Given the description of an element on the screen output the (x, y) to click on. 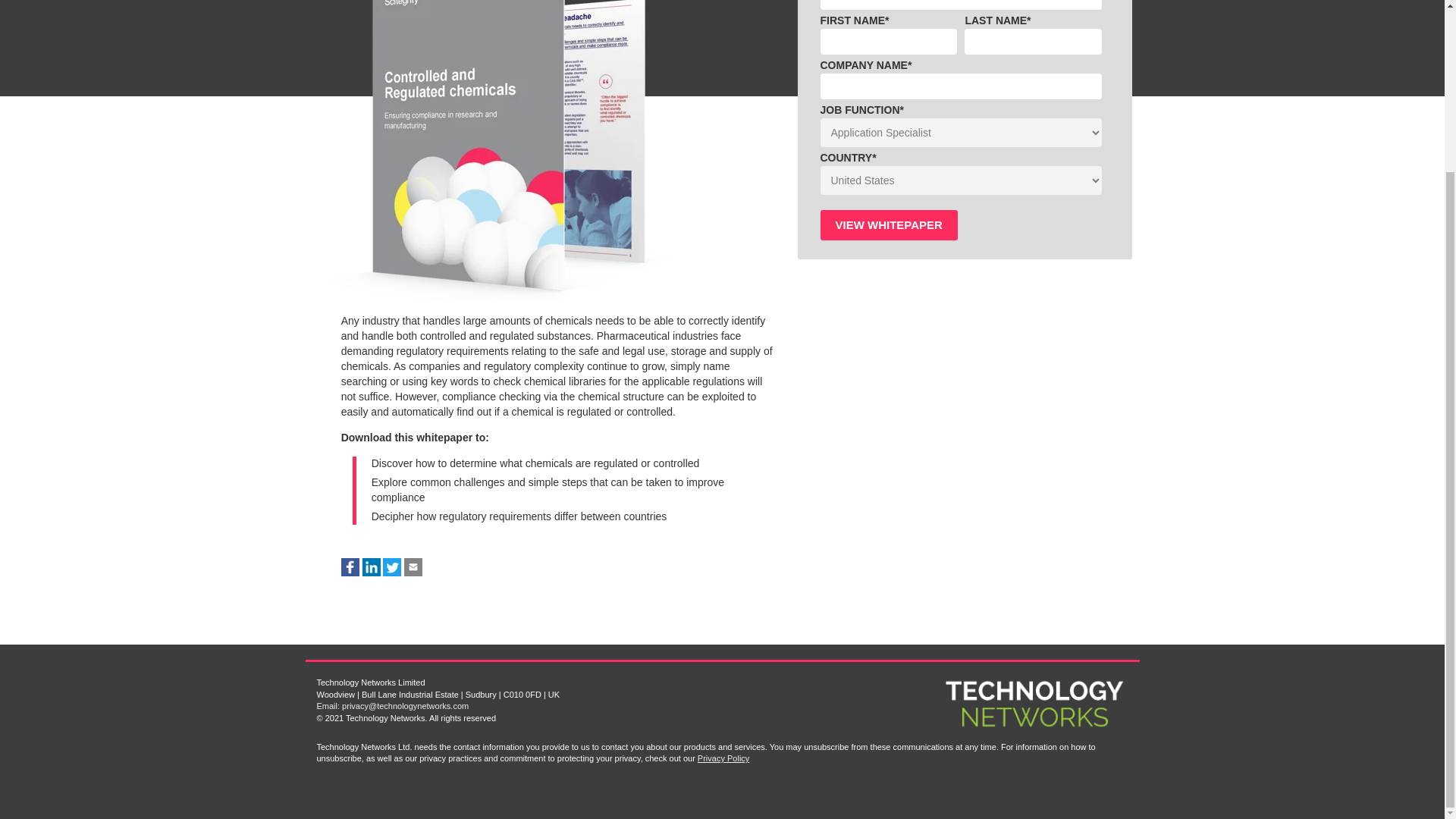
View Whitepaper (889, 224)
Privacy Policy (723, 757)
TechnologyNetwork-test (1034, 704)
View Whitepaper (889, 224)
